Given the description of an element on the screen output the (x, y) to click on. 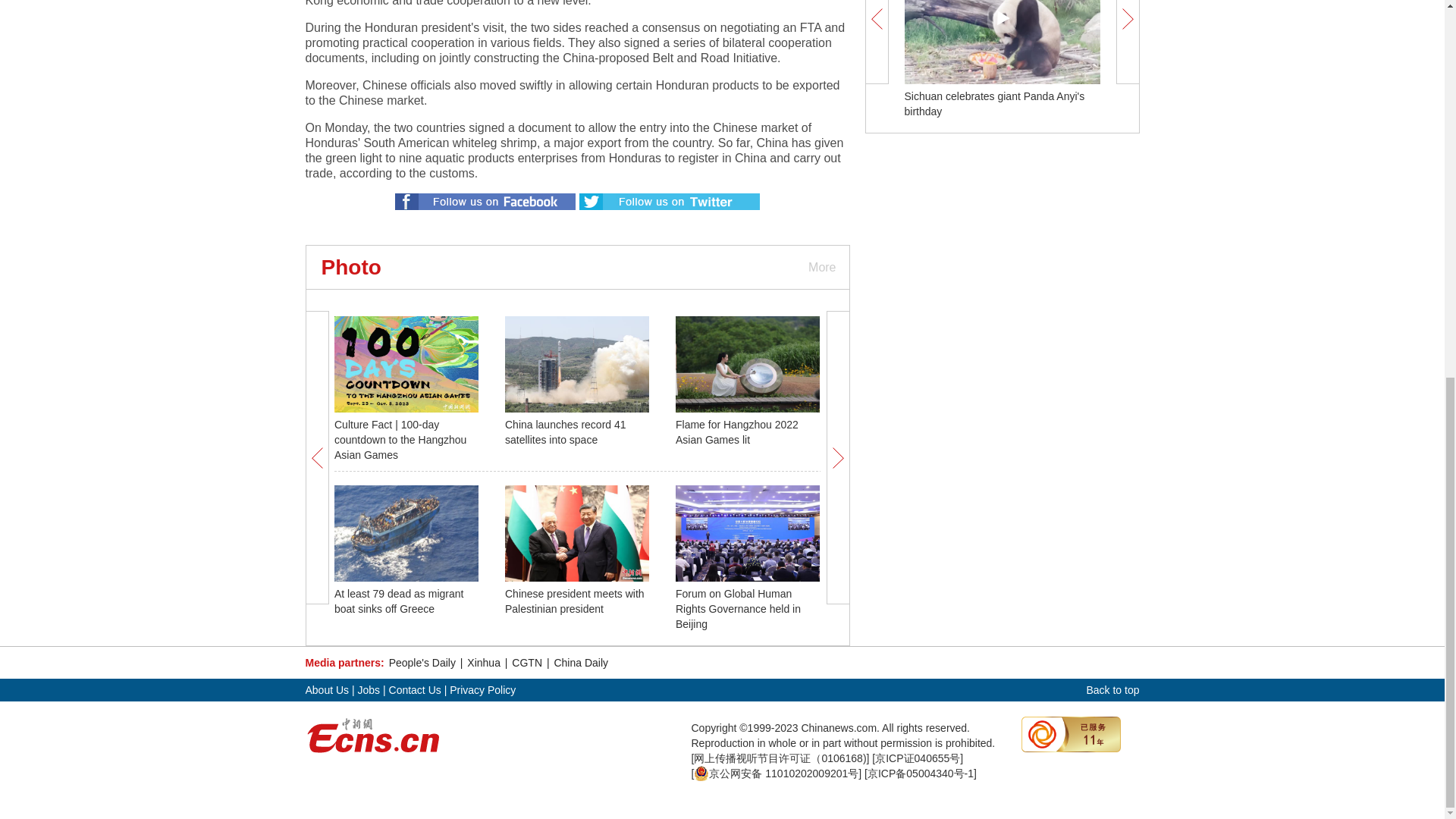
Flame for Hangzhou 2022 Asian Games lit (736, 431)
More (820, 267)
Chinese president meets with Palestinian president (575, 601)
Forum on Global Human Rights Governance held in Beijing (737, 608)
China launches record 41 satellites into space (565, 431)
At least 79 dead as migrant boat sinks off Greece (398, 601)
